Given the description of an element on the screen output the (x, y) to click on. 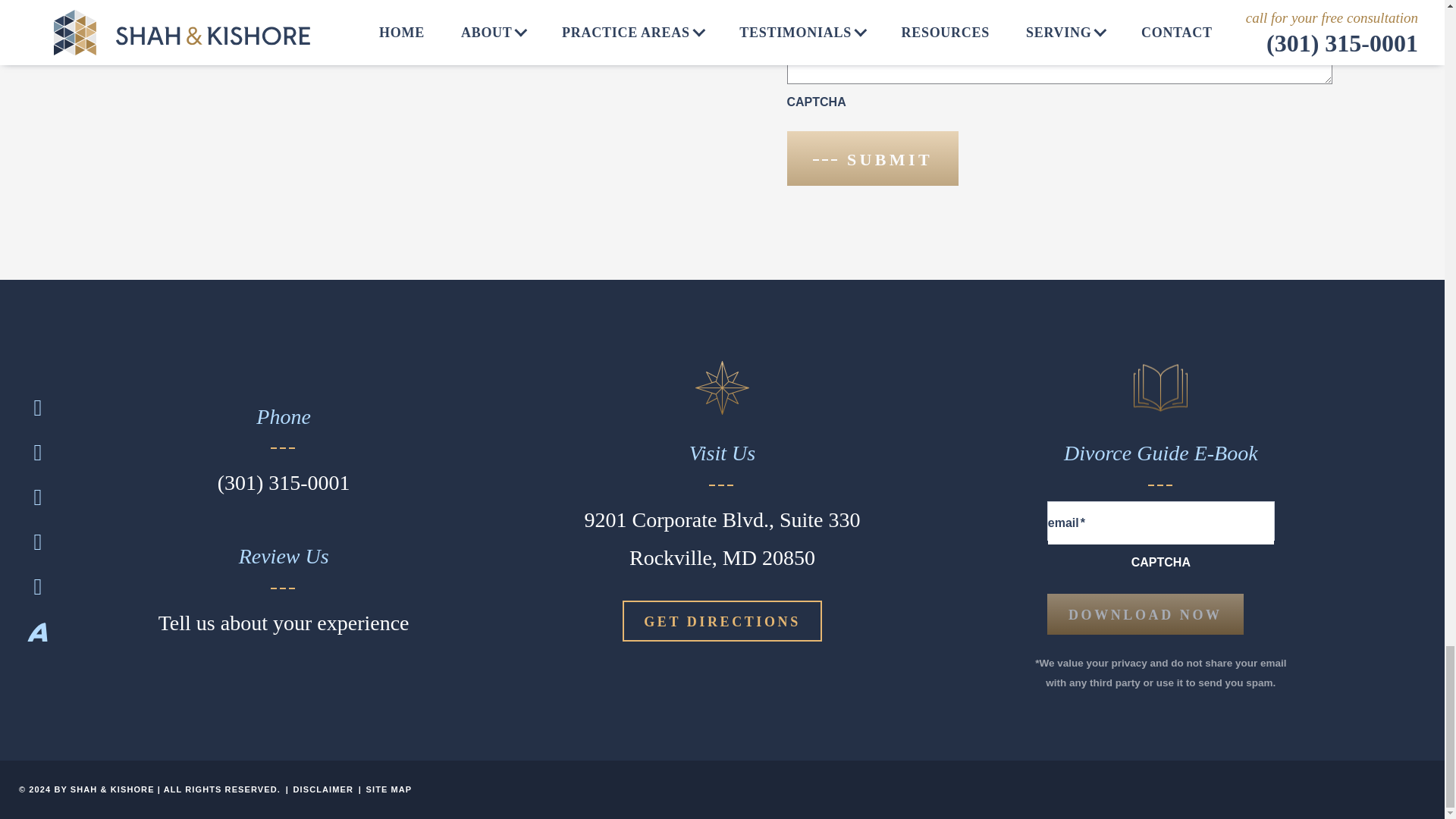
avvo (37, 633)
Phone (283, 483)
Review Us (283, 623)
